Given the description of an element on the screen output the (x, y) to click on. 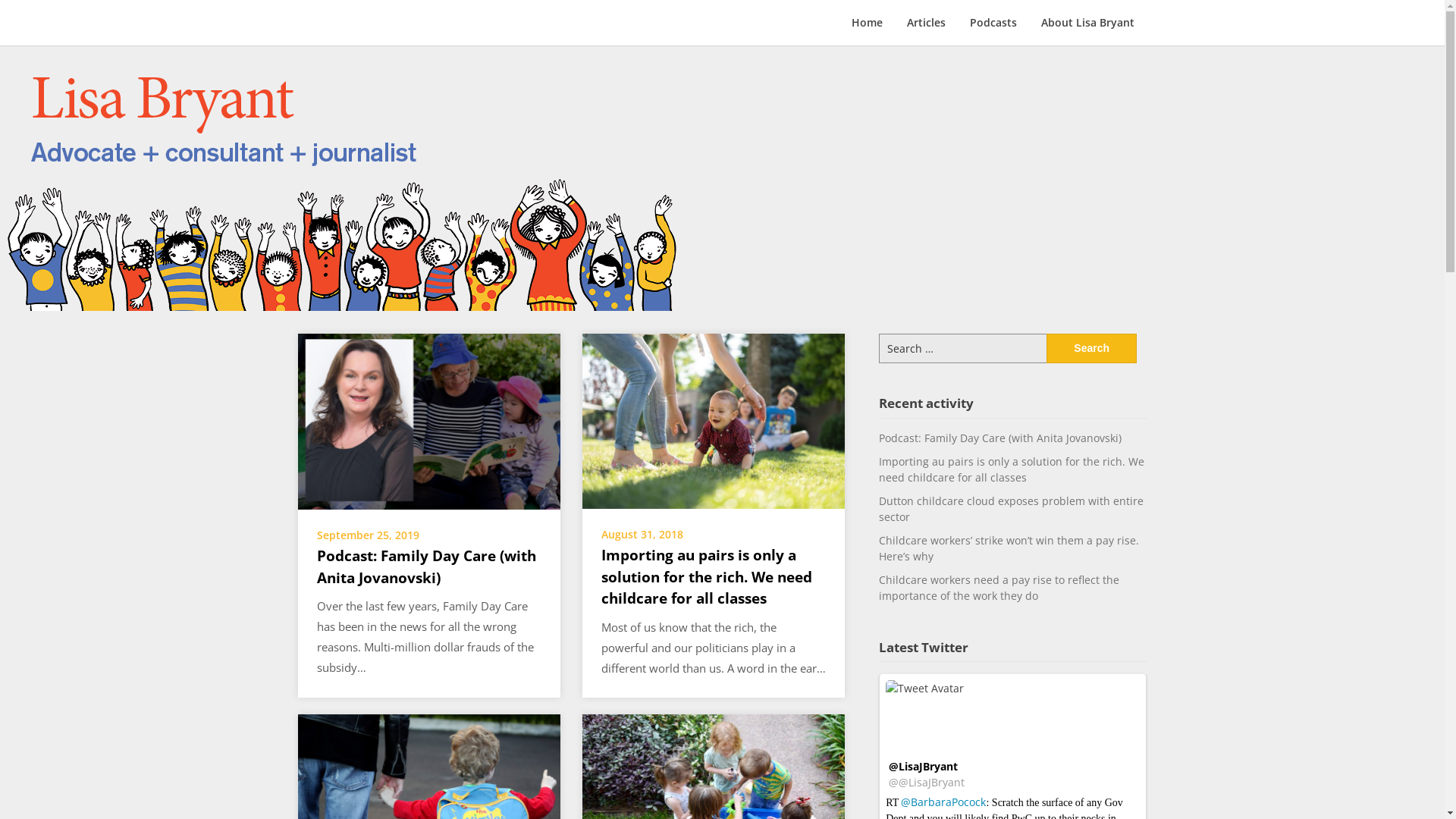
Podcast: Family Day Care (with Anita Jovanovski) Element type: hover (428, 419)
Podcasts Element type: text (993, 22)
Home Element type: text (866, 22)
Articles Element type: text (925, 22)
About Lisa Bryant Element type: text (1087, 22)
Lisa Bryant Element type: text (326, 33)
Dutton childcare cloud exposes problem with entire sector Element type: text (1010, 508)
Podcast: Family Day Care (with Anita Jovanovski) Element type: text (999, 437)
Dutton childcare cloud exposes problem with entire sector Element type: hover (428, 800)
Podcast: Family Day Care (with Anita Jovanovski) Element type: text (426, 566)
@BarbaraPocock Element type: text (942, 801)
Search Element type: text (1091, 348)
@@LisaJBryant Element type: text (926, 782)
